Given the description of an element on the screen output the (x, y) to click on. 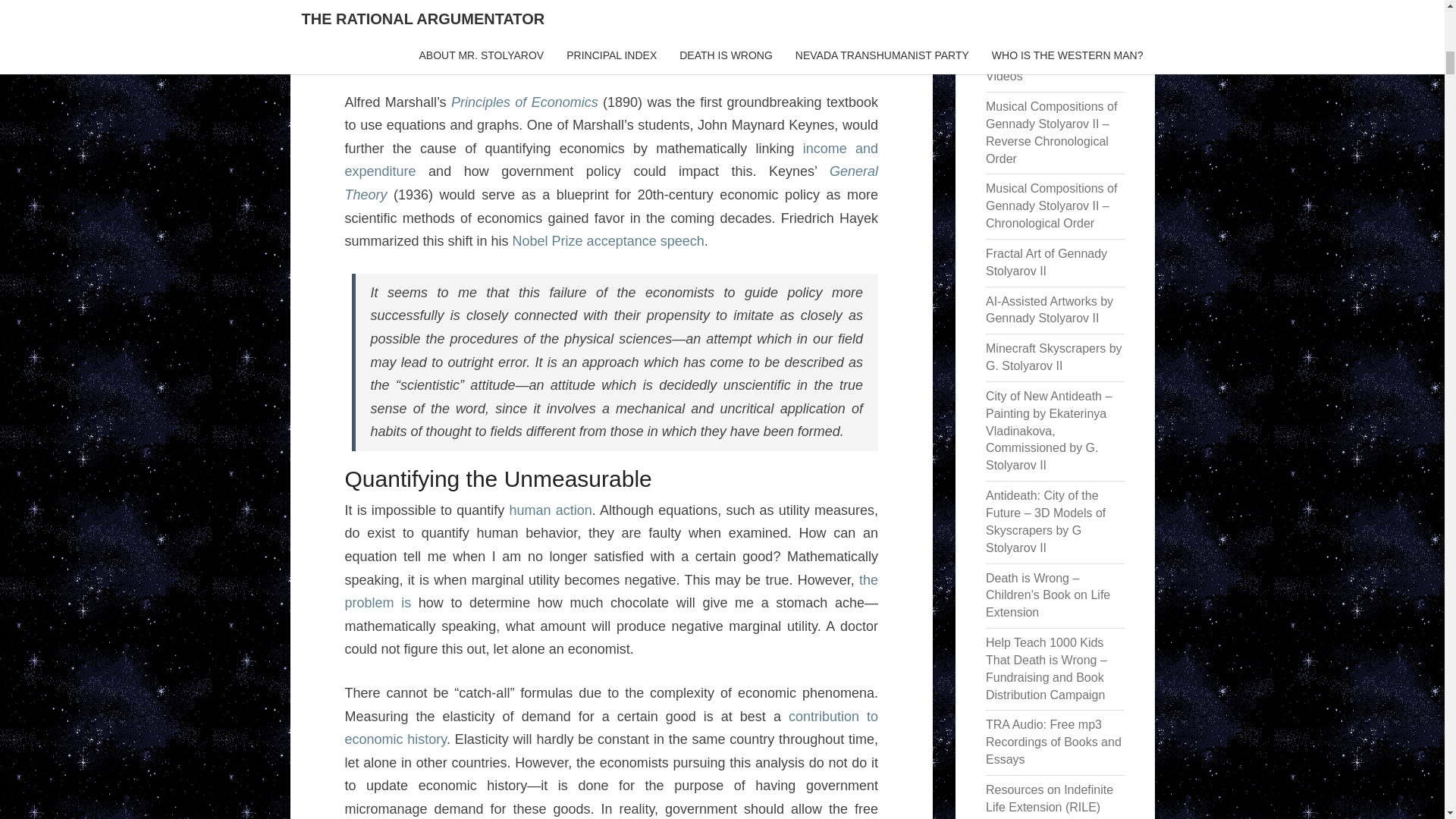
General Theory (610, 182)
the problem is (610, 591)
human action (549, 509)
income and expenditure (610, 159)
contribution to economic history (610, 728)
evidently wrong (826, 11)
Nobel Prize acceptance speech (608, 240)
Principles of Economics (524, 102)
